Given the description of an element on the screen output the (x, y) to click on. 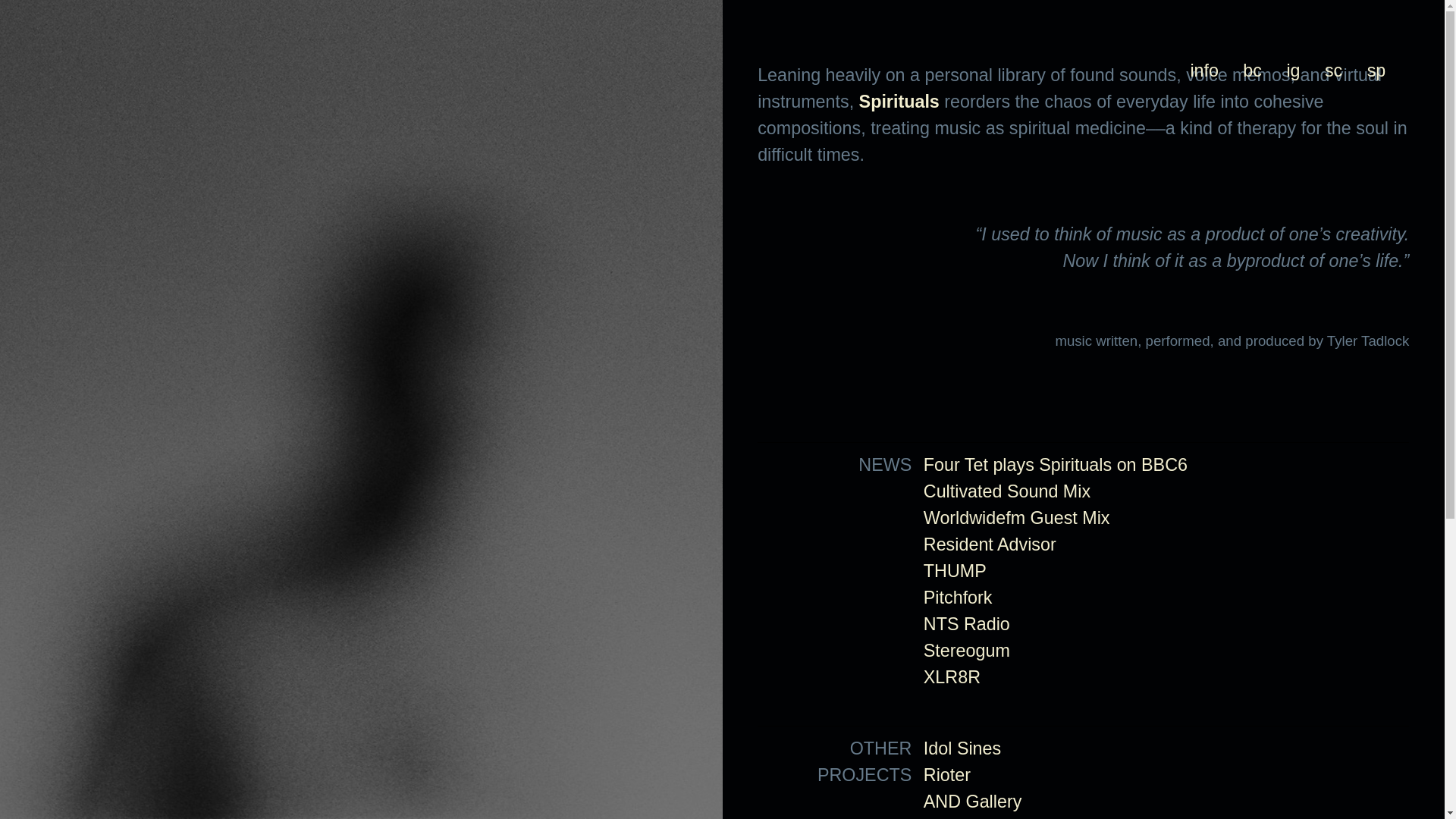
Stereogum Element type: text (966, 651)
Resident Advisor Element type: text (989, 544)
sp Element type: text (1376, 70)
info Element type: text (1203, 70)
THUMP Element type: text (954, 571)
Cultivated Sound Mix Element type: text (1006, 491)
XLR8R Element type: text (951, 677)
Pitchfork Element type: text (957, 597)
Worldwidefm Guest Mix Element type: text (1016, 518)
bc Element type: text (1251, 70)
Rioter Element type: text (946, 775)
Four Tet plays Spirituals on BBC6 Element type: text (1055, 465)
ig Element type: text (1292, 70)
NTS Radio Element type: text (966, 624)
sc Element type: text (1333, 70)
Idol Sines Element type: text (962, 748)
AND Gallery Element type: text (972, 801)
Spirituals Element type: text (899, 101)
